Given the description of an element on the screen output the (x, y) to click on. 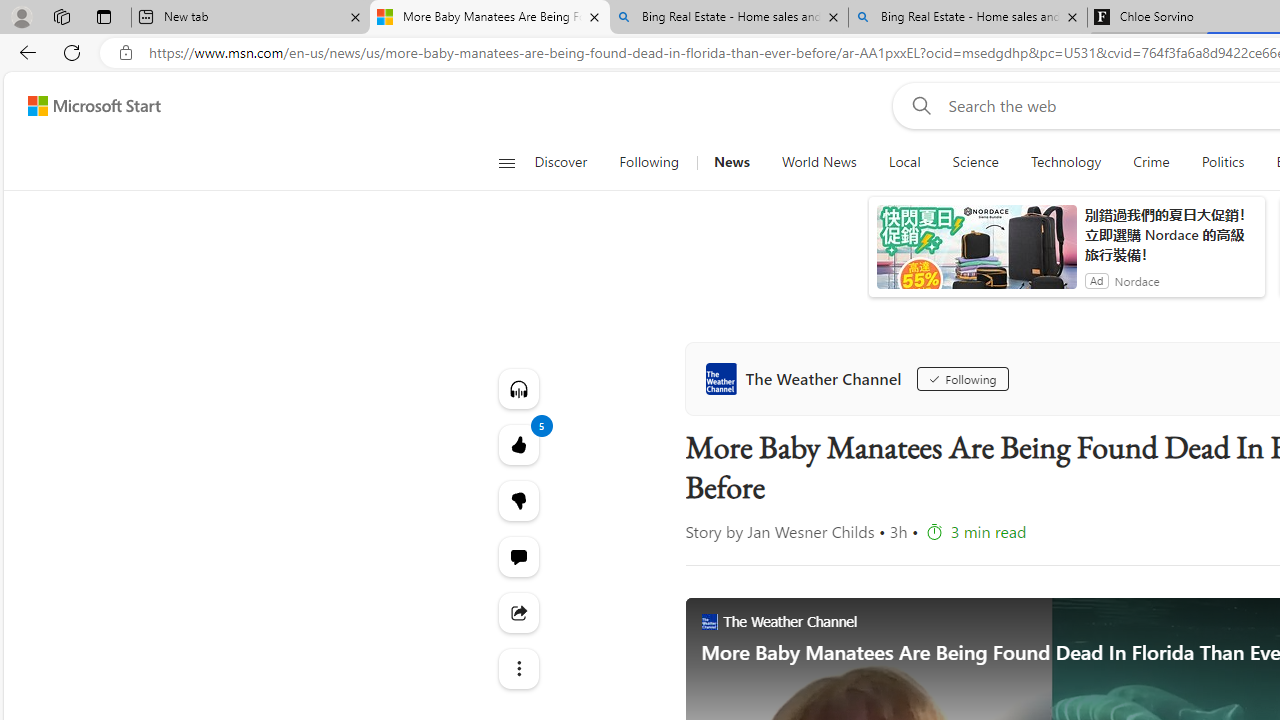
Class: button-glyph (505, 162)
More like this5Fewer like thisStart the conversation (517, 500)
Discover (560, 162)
Open navigation menu (506, 162)
Crime (1151, 162)
World News (818, 162)
Share this story (517, 612)
See more (517, 668)
Listen to this article (517, 388)
Local (903, 162)
Ad (1096, 280)
